Given the description of an element on the screen output the (x, y) to click on. 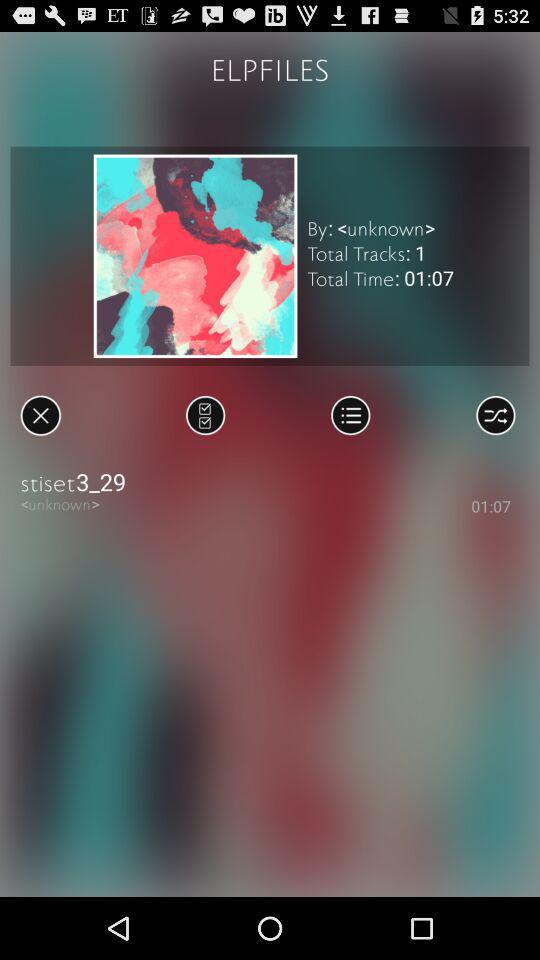
repeat (495, 415)
